Given the description of an element on the screen output the (x, y) to click on. 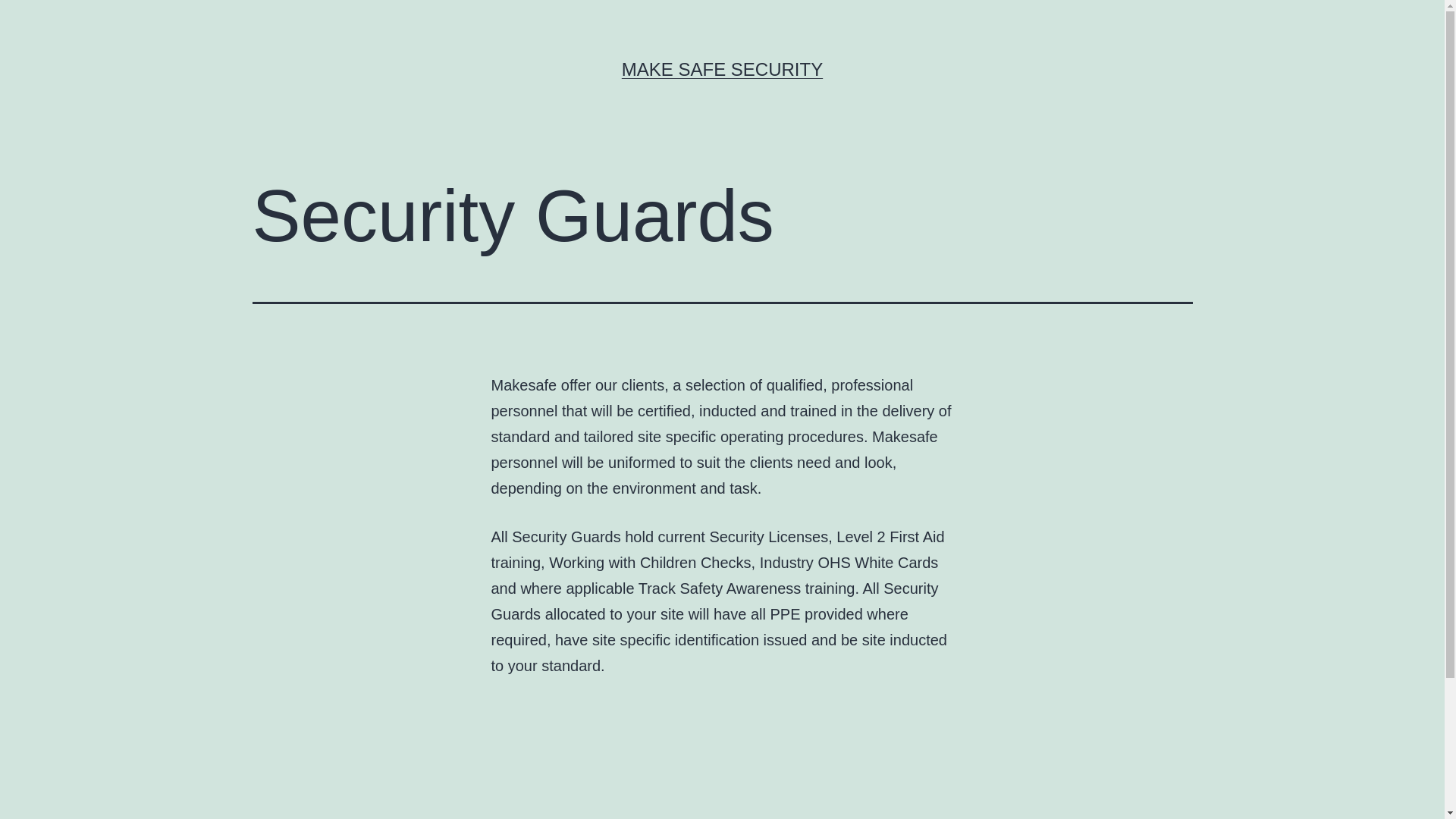
MAKE SAFE SECURITY Element type: text (721, 69)
